Given the description of an element on the screen output the (x, y) to click on. 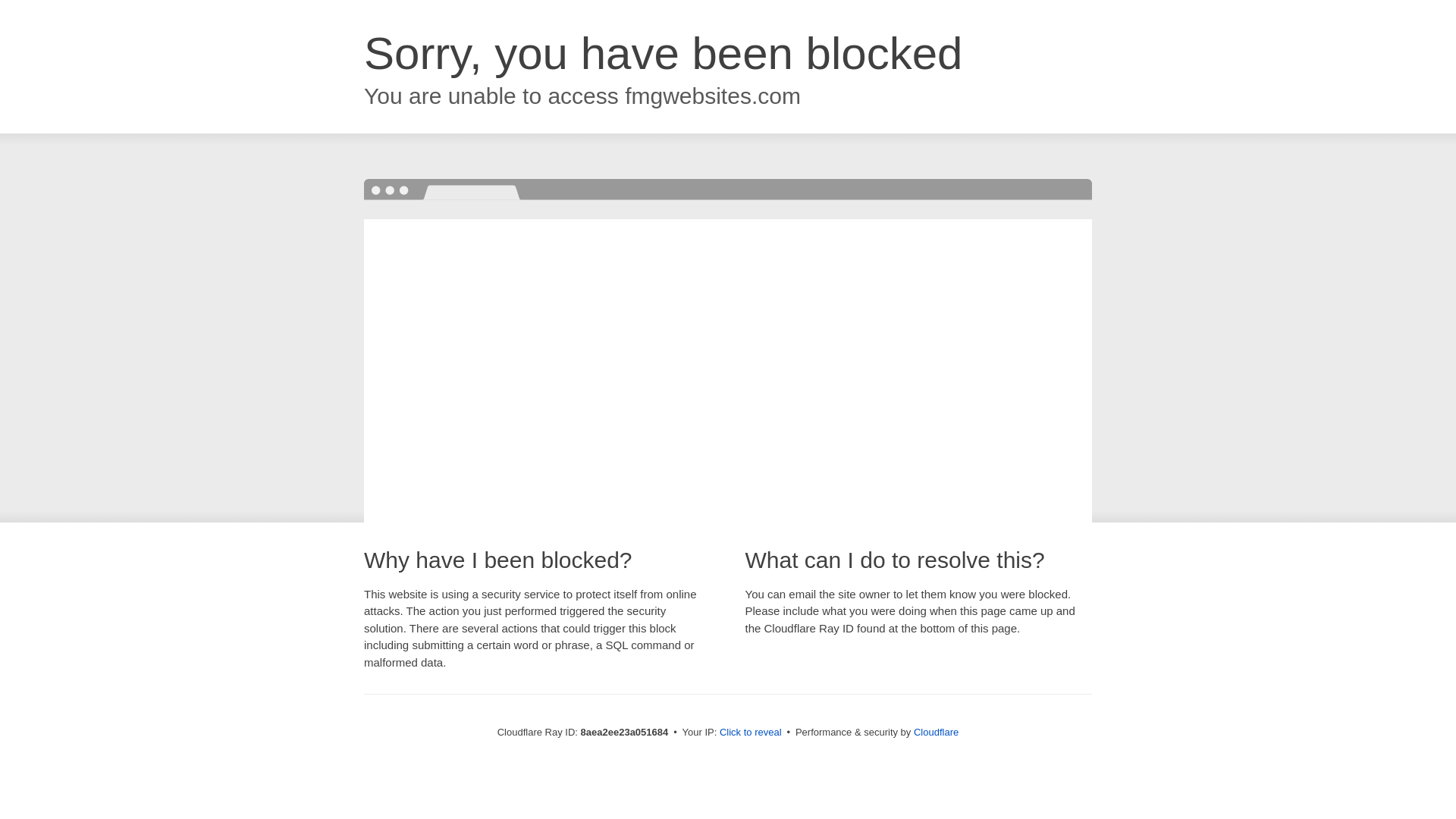
Click to reveal (750, 732)
Cloudflare (936, 731)
